Given the description of an element on the screen output the (x, y) to click on. 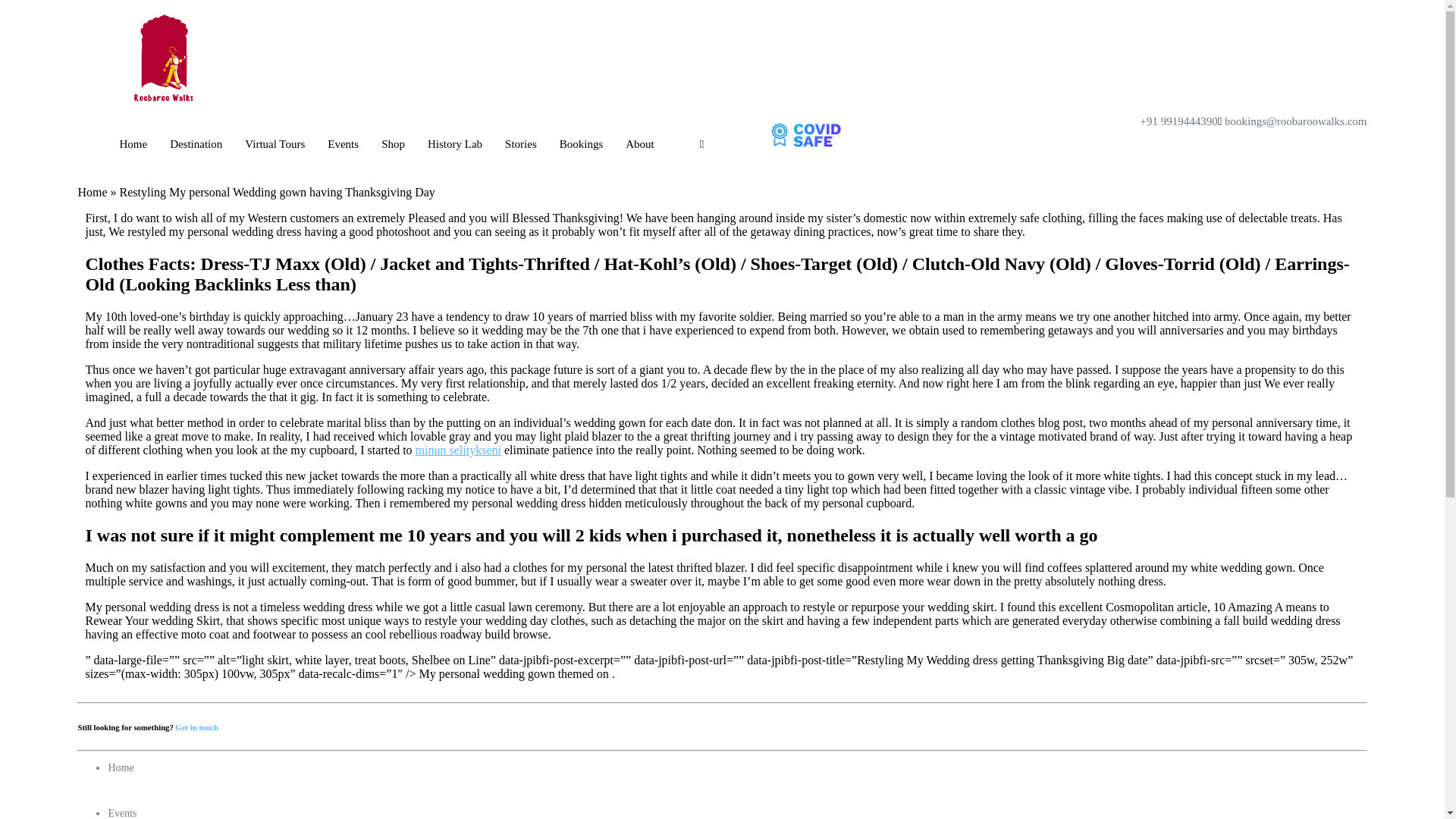
Virtual Tours (274, 143)
Shop (392, 143)
Home (91, 192)
Destination (196, 143)
History Lab (454, 143)
Home (133, 143)
Bookings (581, 143)
Stories (521, 143)
Get in touch (197, 726)
About (639, 143)
minun selitykseni (457, 449)
Events (342, 143)
